Given the description of an element on the screen output the (x, y) to click on. 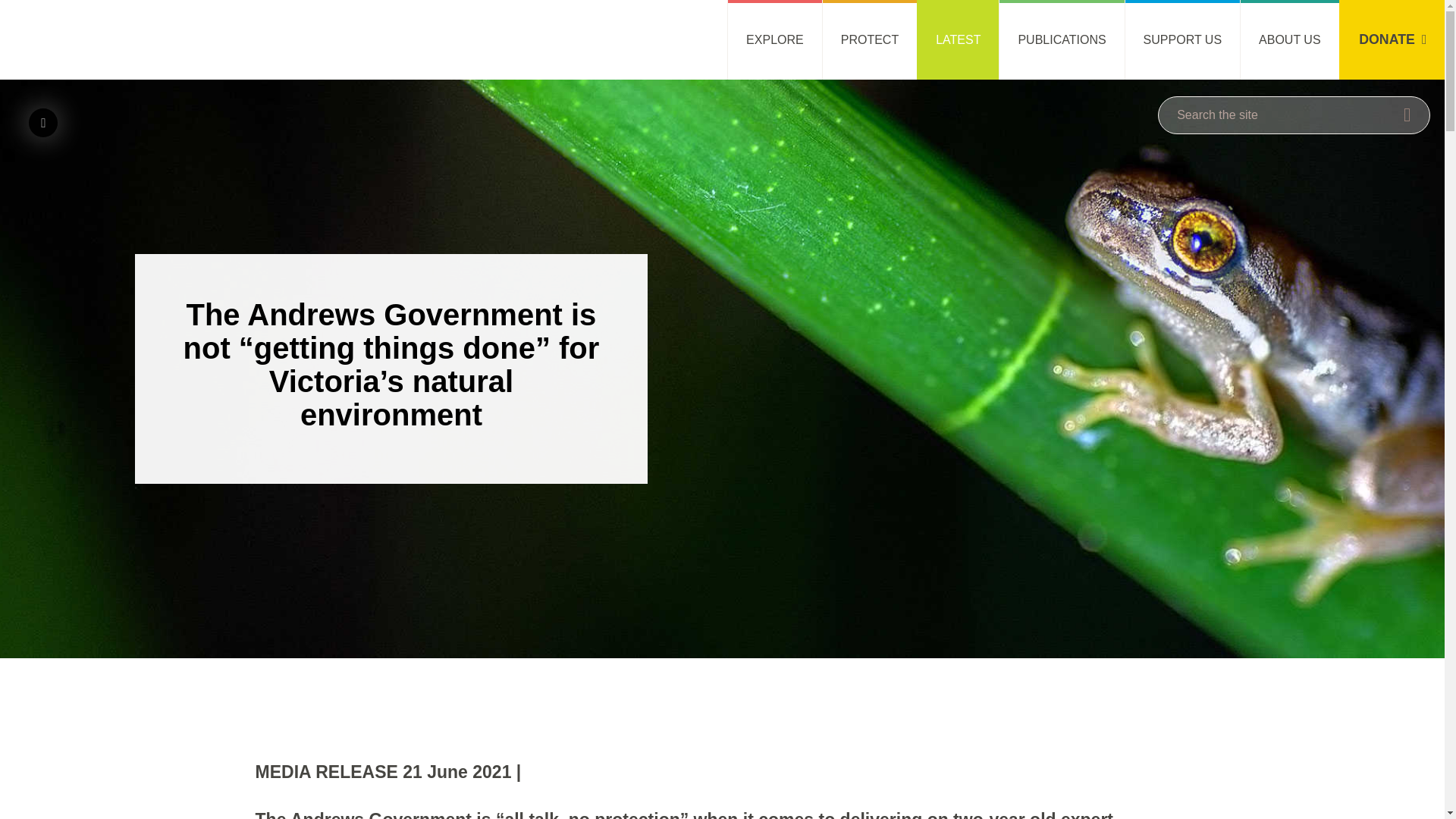
PUBLICATIONS (1061, 39)
EXPLORE (774, 39)
Search for: (1293, 114)
LATEST (957, 39)
PROTECT (869, 39)
